Given the description of an element on the screen output the (x, y) to click on. 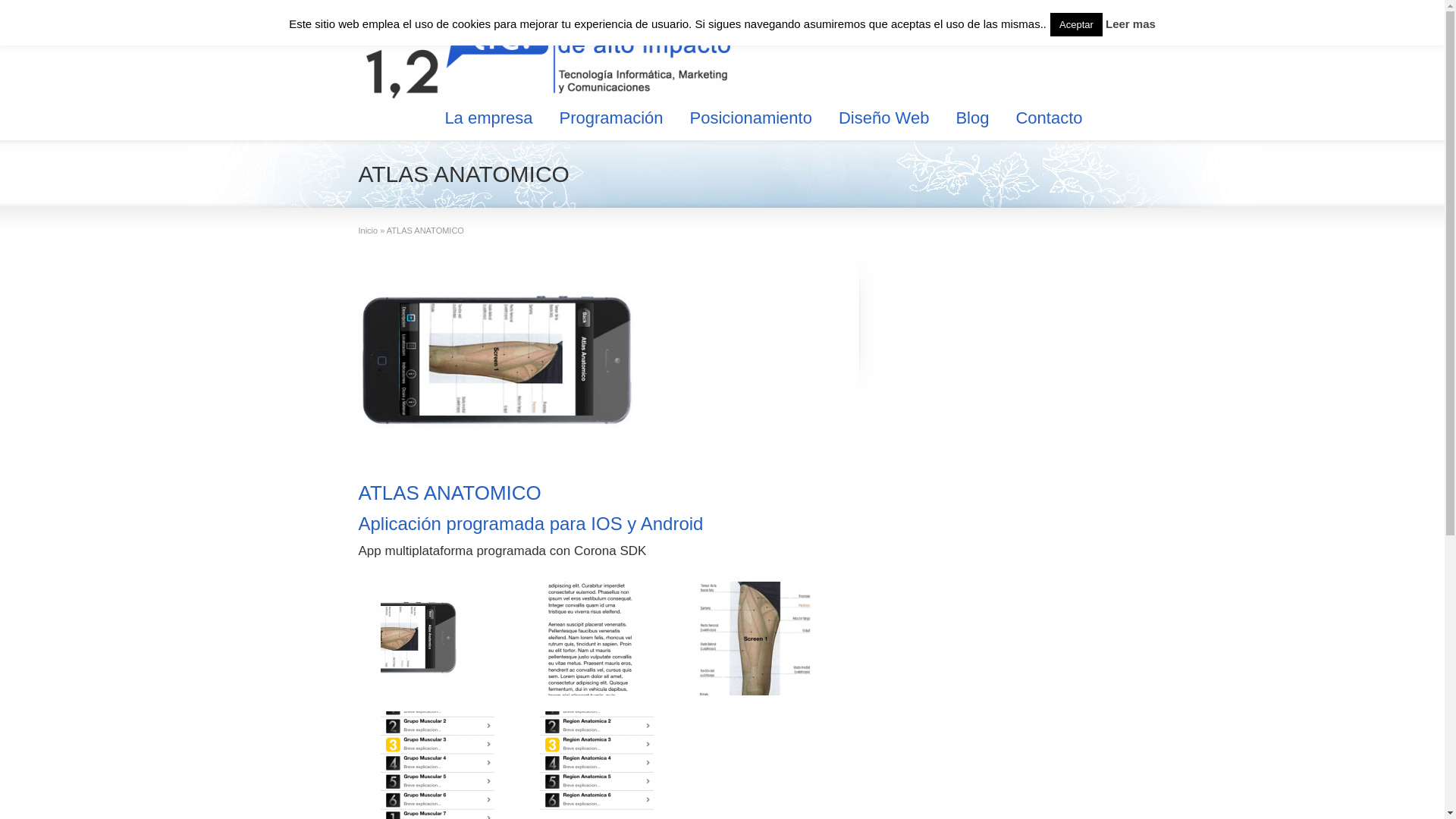
Posicionamiento Element type: text (750, 118)
La empresa Element type: text (488, 118)
Inicio Element type: text (367, 230)
Blog Element type: text (972, 118)
Contacto Element type: text (1048, 118)
Leer mas Element type: text (1130, 23)
iphone-atlas Element type: hover (596, 361)
Aceptar Element type: text (1076, 24)
